Given the description of an element on the screen output the (x, y) to click on. 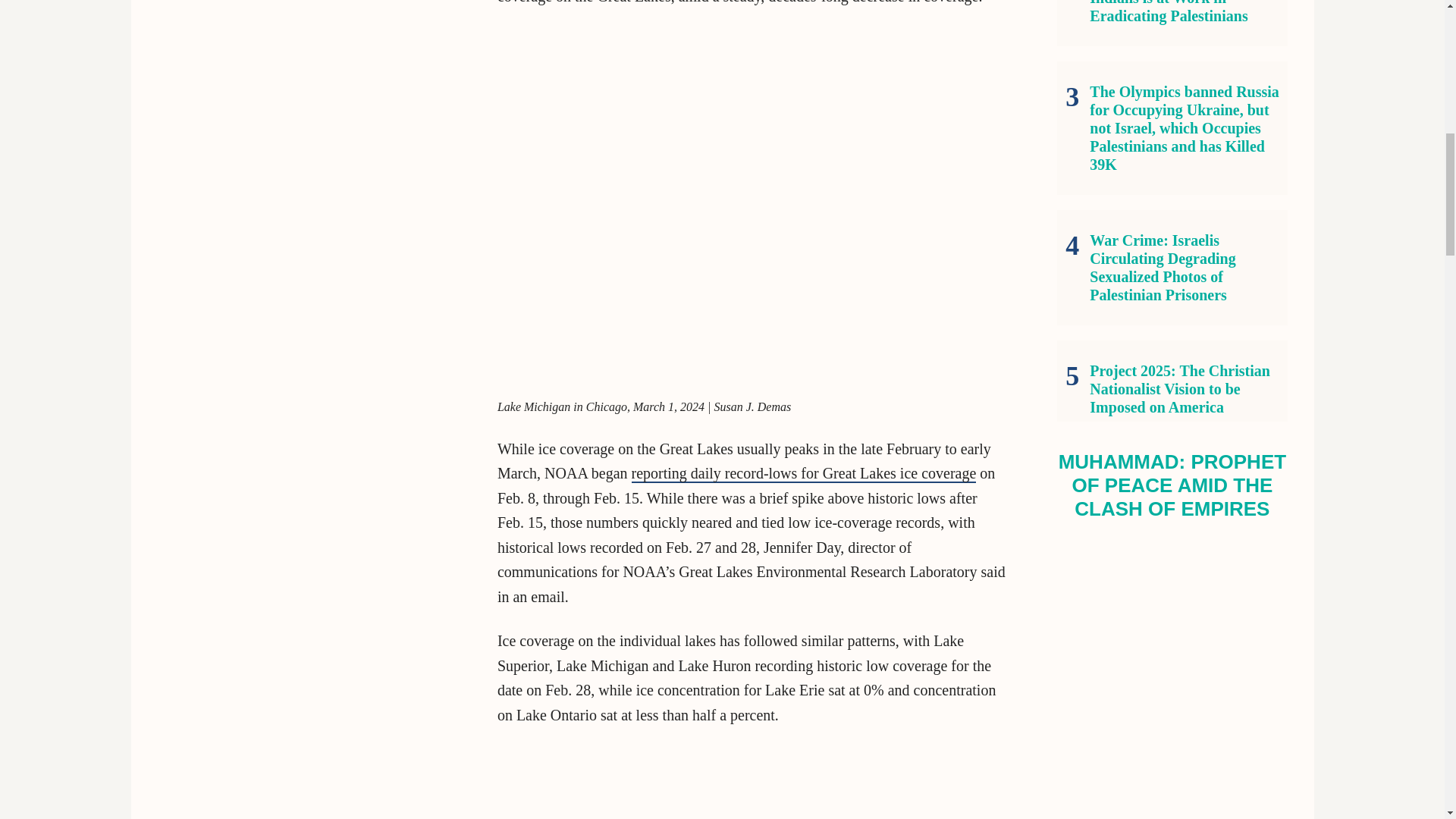
reporting daily record-lows for Great Lakes ice coverage (803, 474)
